Given the description of an element on the screen output the (x, y) to click on. 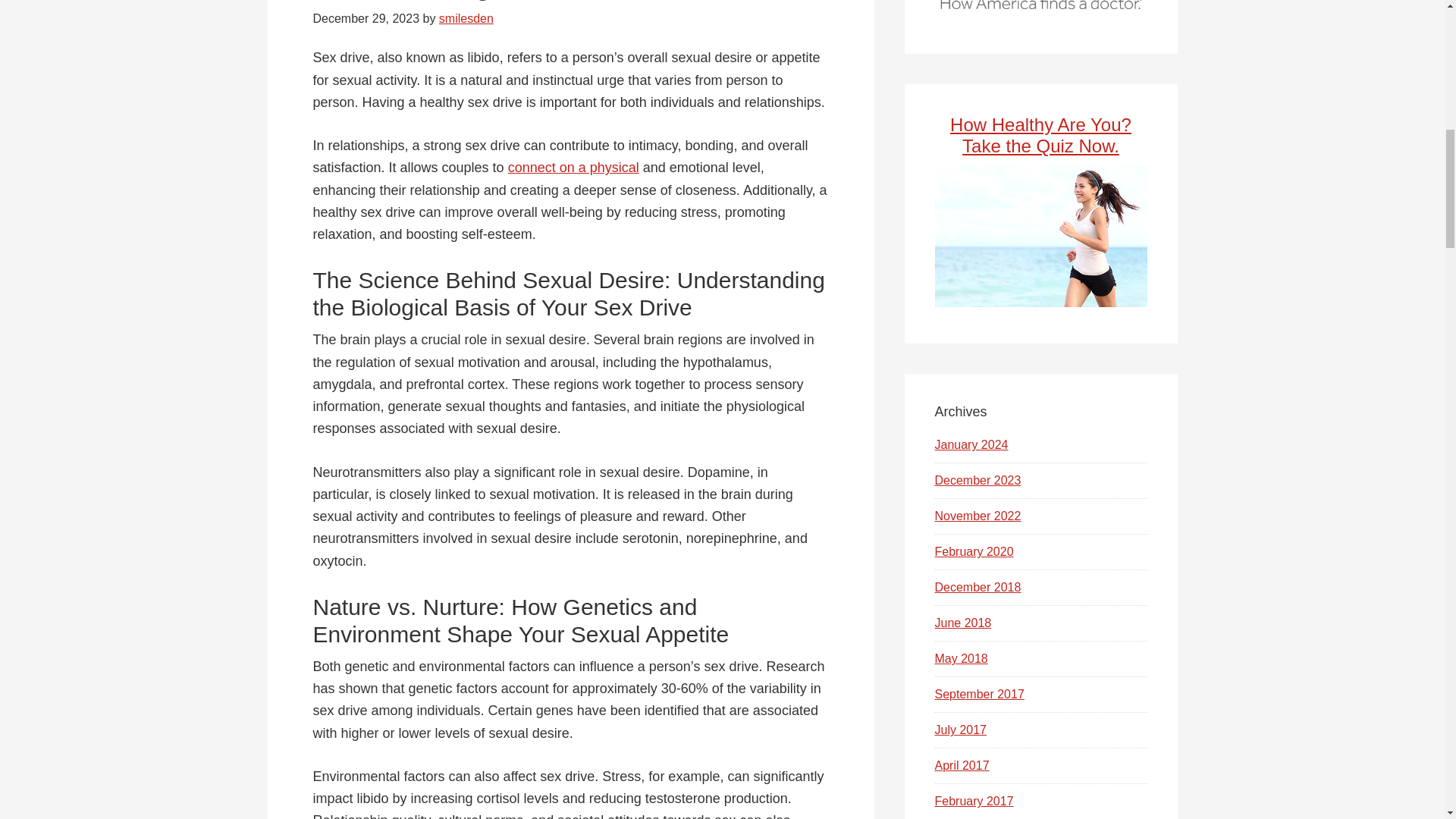
November 2022 (977, 515)
July 2017 (960, 729)
connect on a physical (573, 167)
January 2024 (970, 444)
December 2023 (977, 480)
May 2018 (960, 658)
How Healthy Are You? Take the Quiz Now. (1040, 135)
December 2018 (977, 586)
smilesden (466, 18)
June 2018 (962, 622)
